Given the description of an element on the screen output the (x, y) to click on. 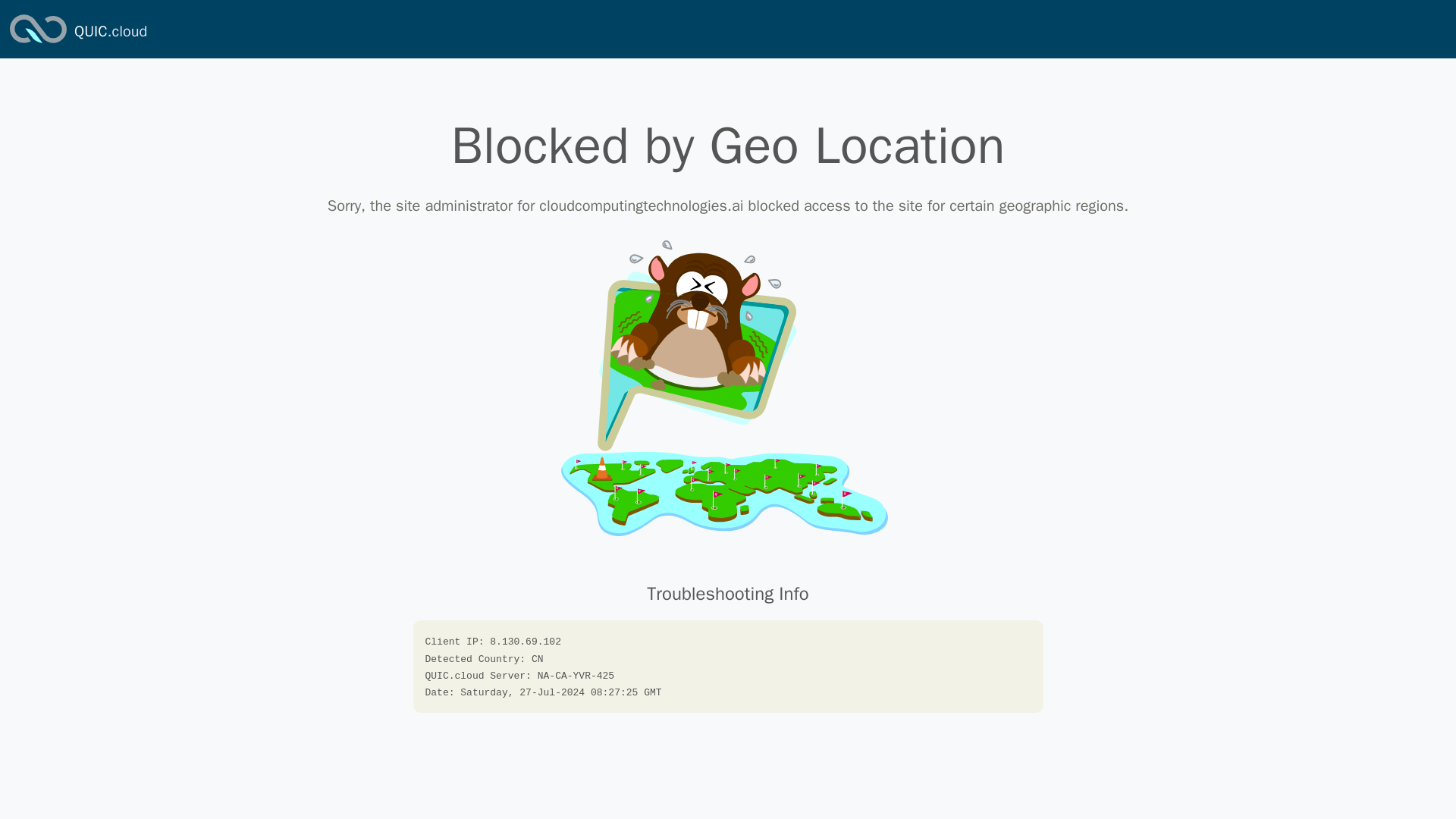
QUIC.cloud (110, 31)
QUIC.cloud (110, 31)
QUIC.cloud (37, 43)
